Given the description of an element on the screen output the (x, y) to click on. 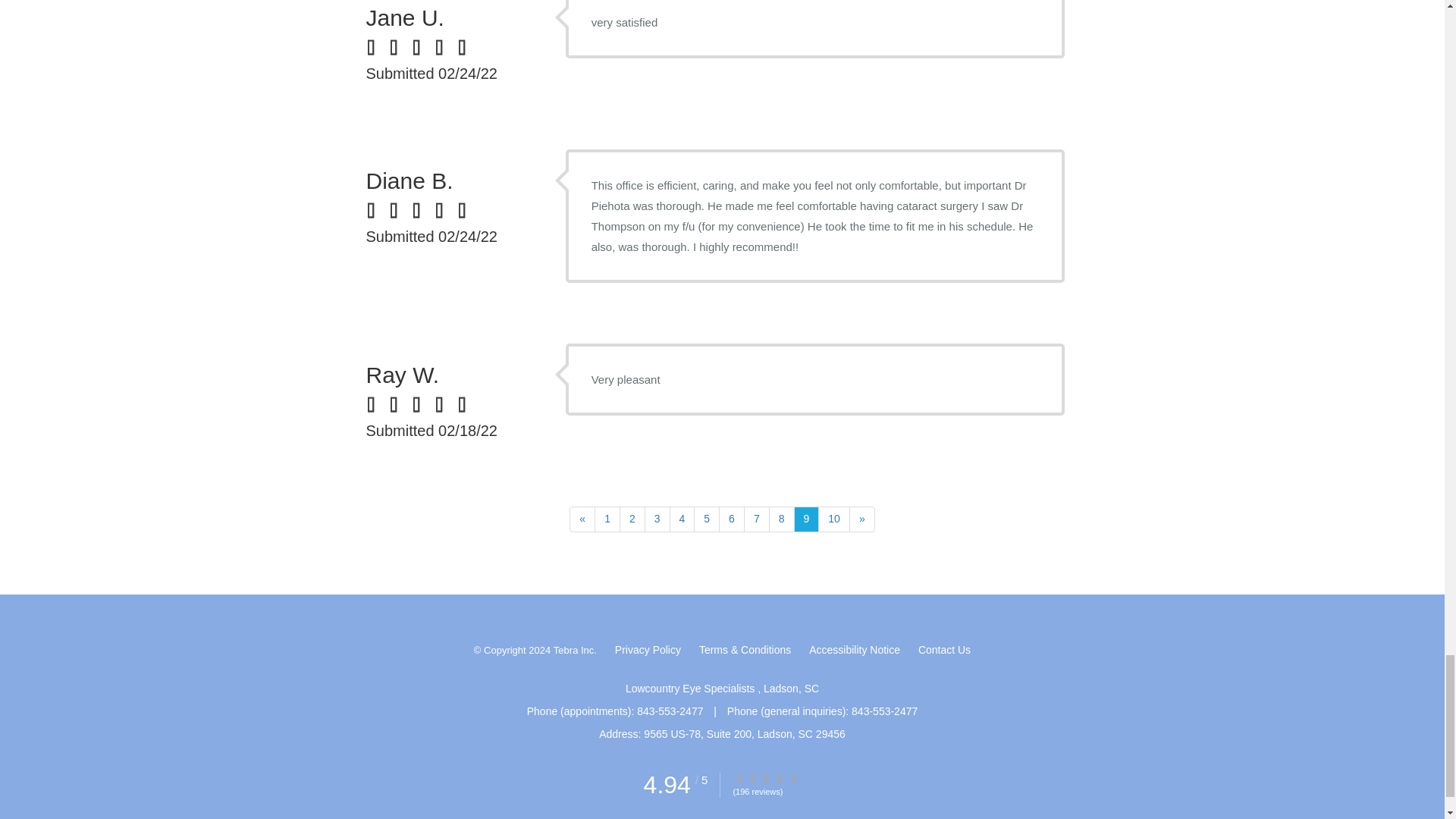
5 (706, 519)
3 (657, 519)
2 (632, 519)
4 (682, 519)
1 (607, 519)
